Given the description of an element on the screen output the (x, y) to click on. 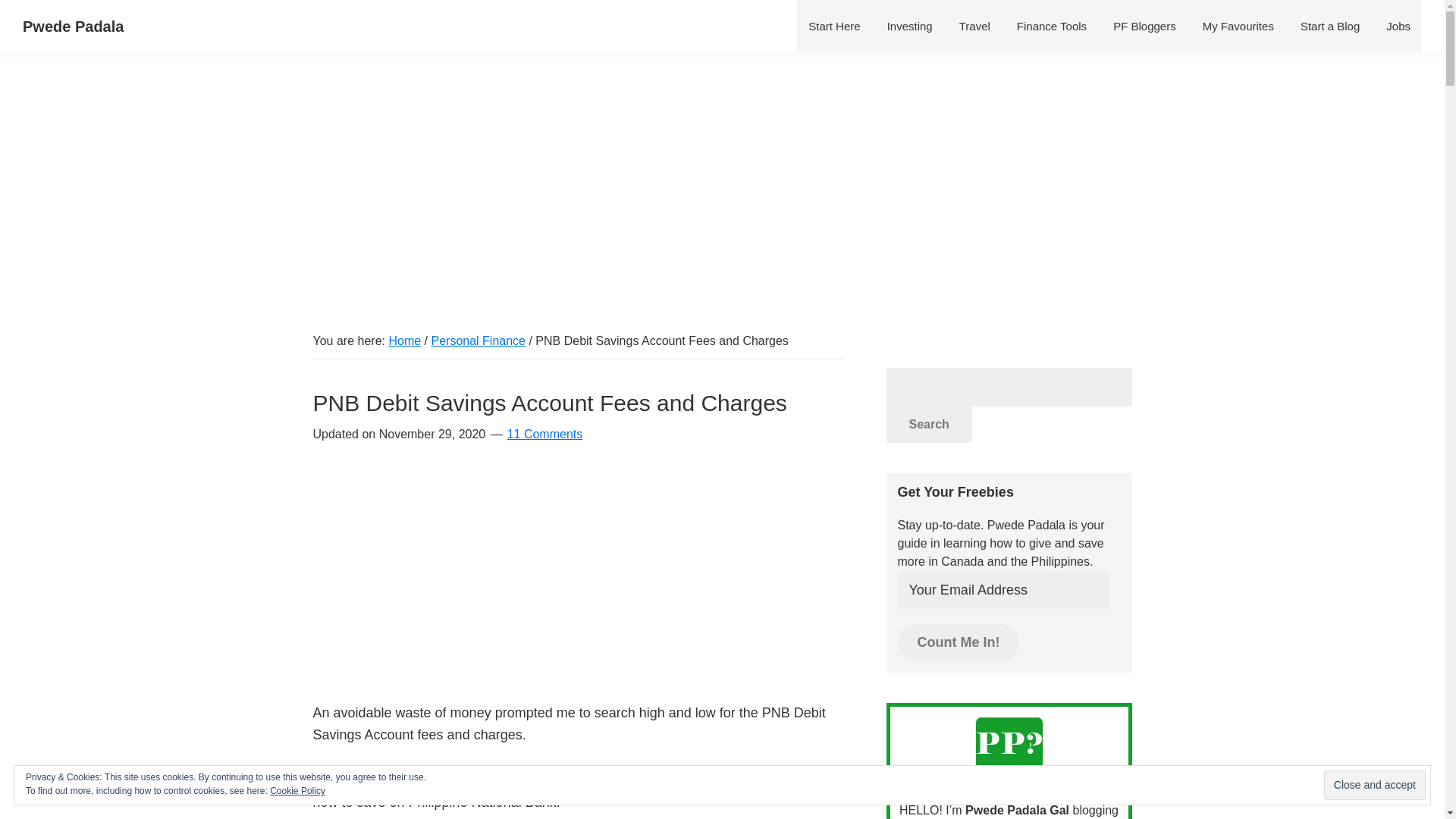
Pwede Padala  (833, 25)
PF Bloggers (1145, 25)
Personal Finance (477, 340)
Travel (974, 25)
Finance Tools (1051, 25)
Start a Blog (1329, 25)
Home (404, 340)
Jobs (1398, 25)
Investing (909, 25)
Search (928, 424)
